Given the description of an element on the screen output the (x, y) to click on. 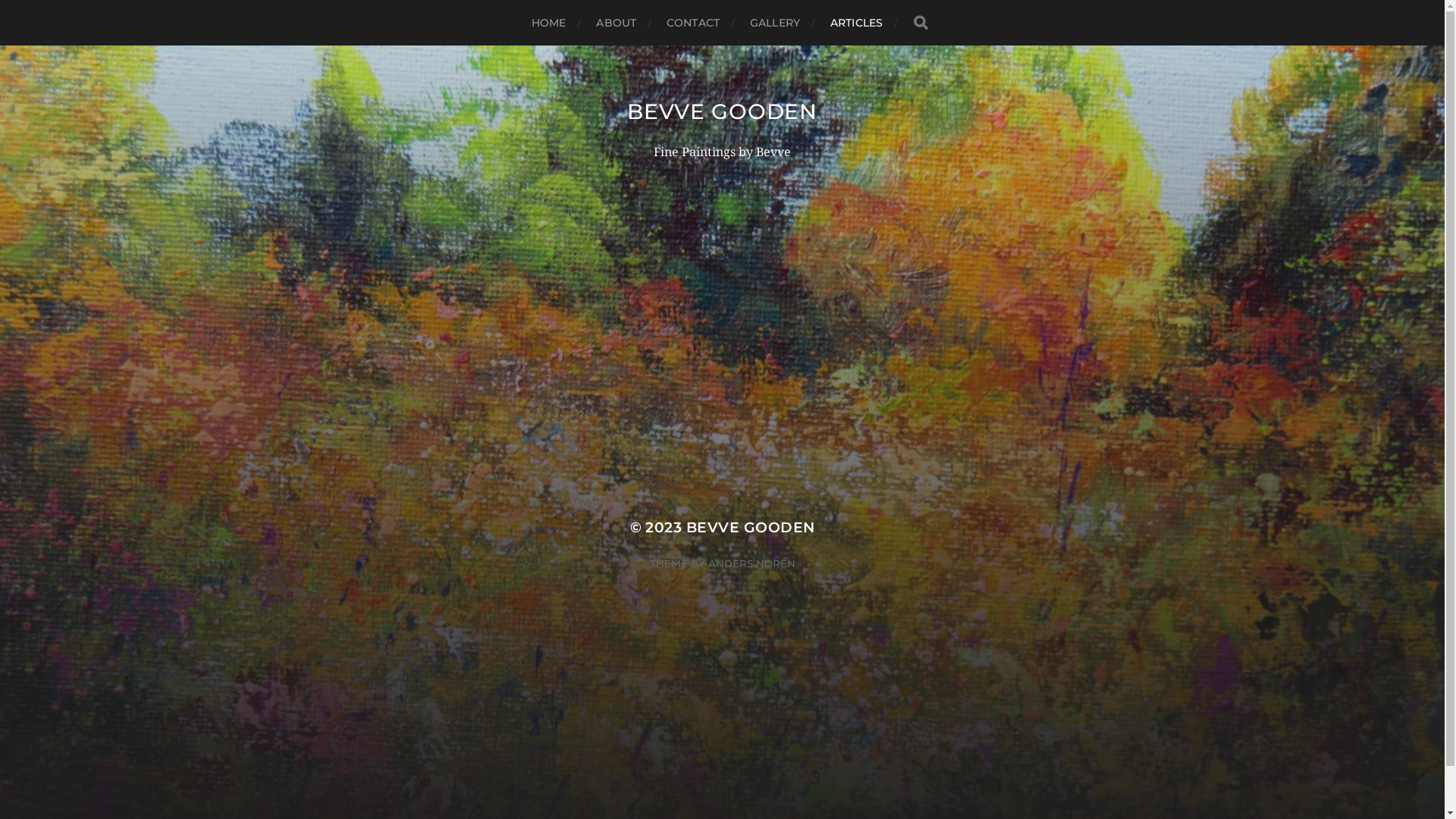
ARTICLES Element type: text (856, 22)
CONTACT Element type: text (692, 22)
GALLERY Element type: text (774, 22)
BEVVE GOODEN Element type: text (721, 111)
BEVVE GOODEN Element type: text (750, 527)
HOME Element type: text (548, 22)
ABOUT Element type: text (616, 22)
